Given the description of an element on the screen output the (x, y) to click on. 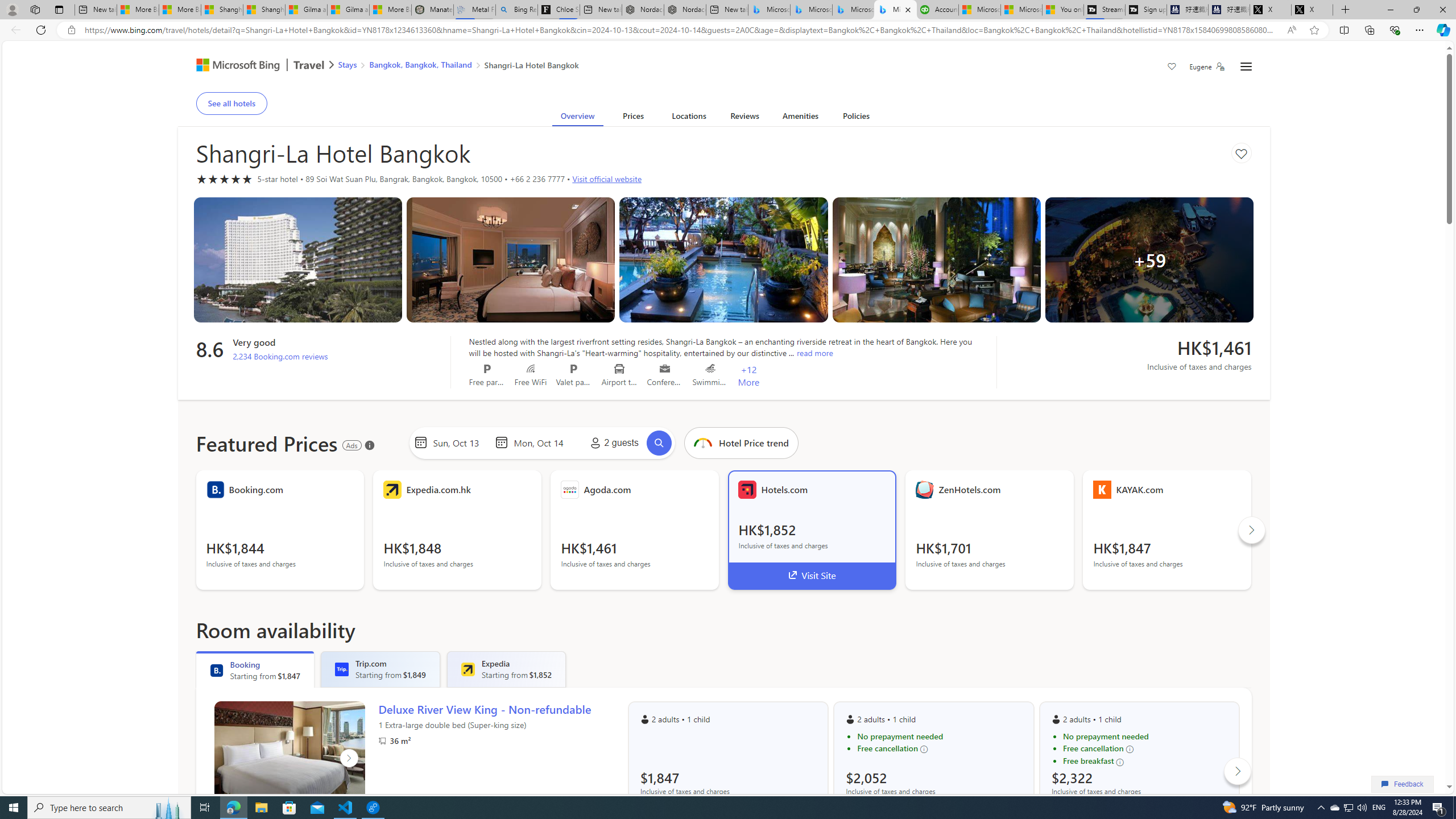
Save (1171, 67)
Stays (346, 64)
Class: msft-bing-logo msft-bing-logo-desktop (234, 64)
Policies (855, 118)
Swimming pool (710, 368)
Free parking (486, 368)
Partner Image (381, 740)
